Given the description of an element on the screen output the (x, y) to click on. 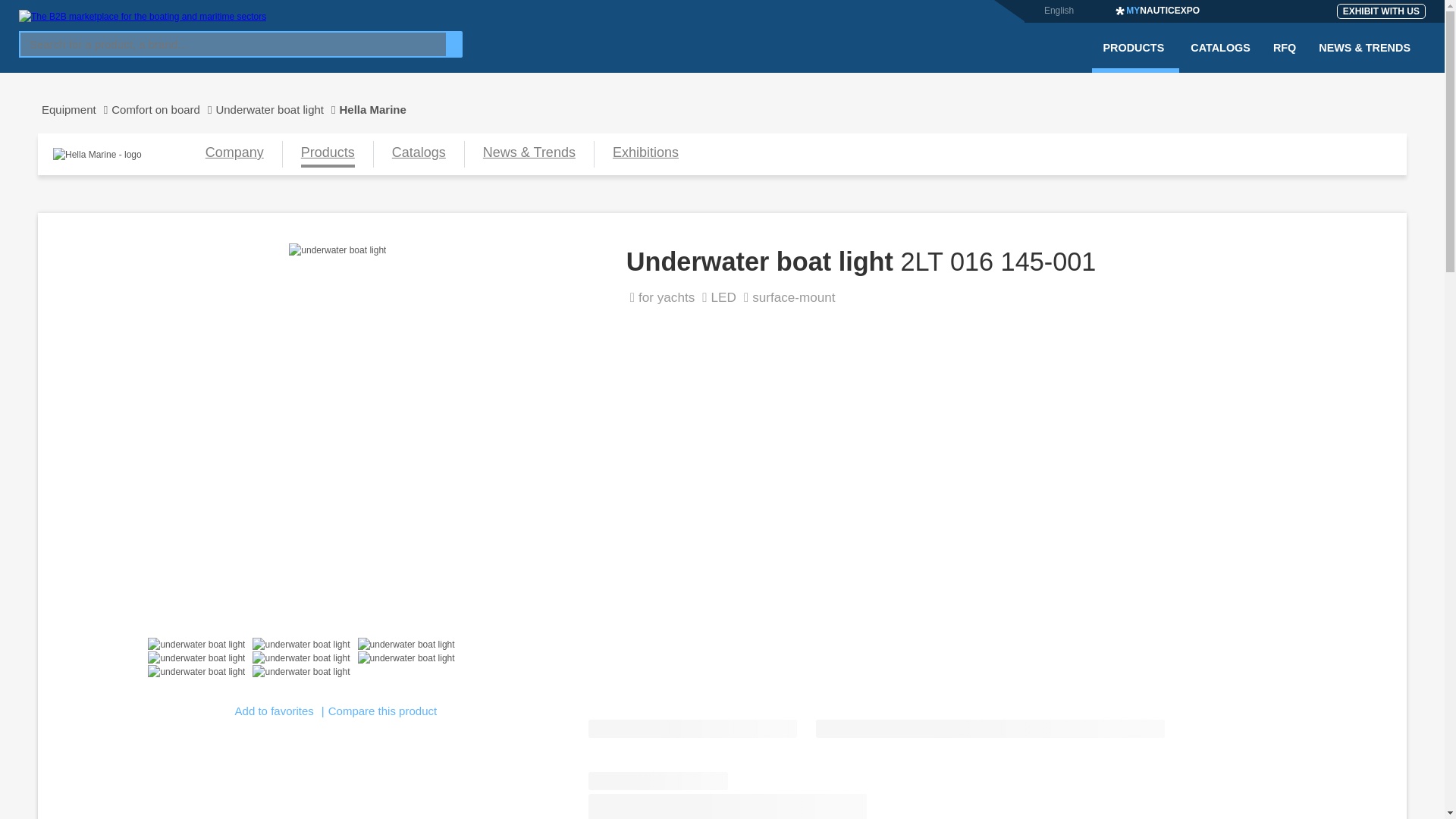
English (1058, 9)
Company (234, 153)
Exhibitions (645, 153)
PRODUCTS (1135, 56)
Products (328, 153)
Catalogs (418, 153)
Comfort on board (163, 109)
EXHIBIT WITH US (1380, 11)
Underwater boat light (277, 109)
CATALOGS (1220, 56)
RFQ (1284, 56)
Equipment (74, 109)
